Given the description of an element on the screen output the (x, y) to click on. 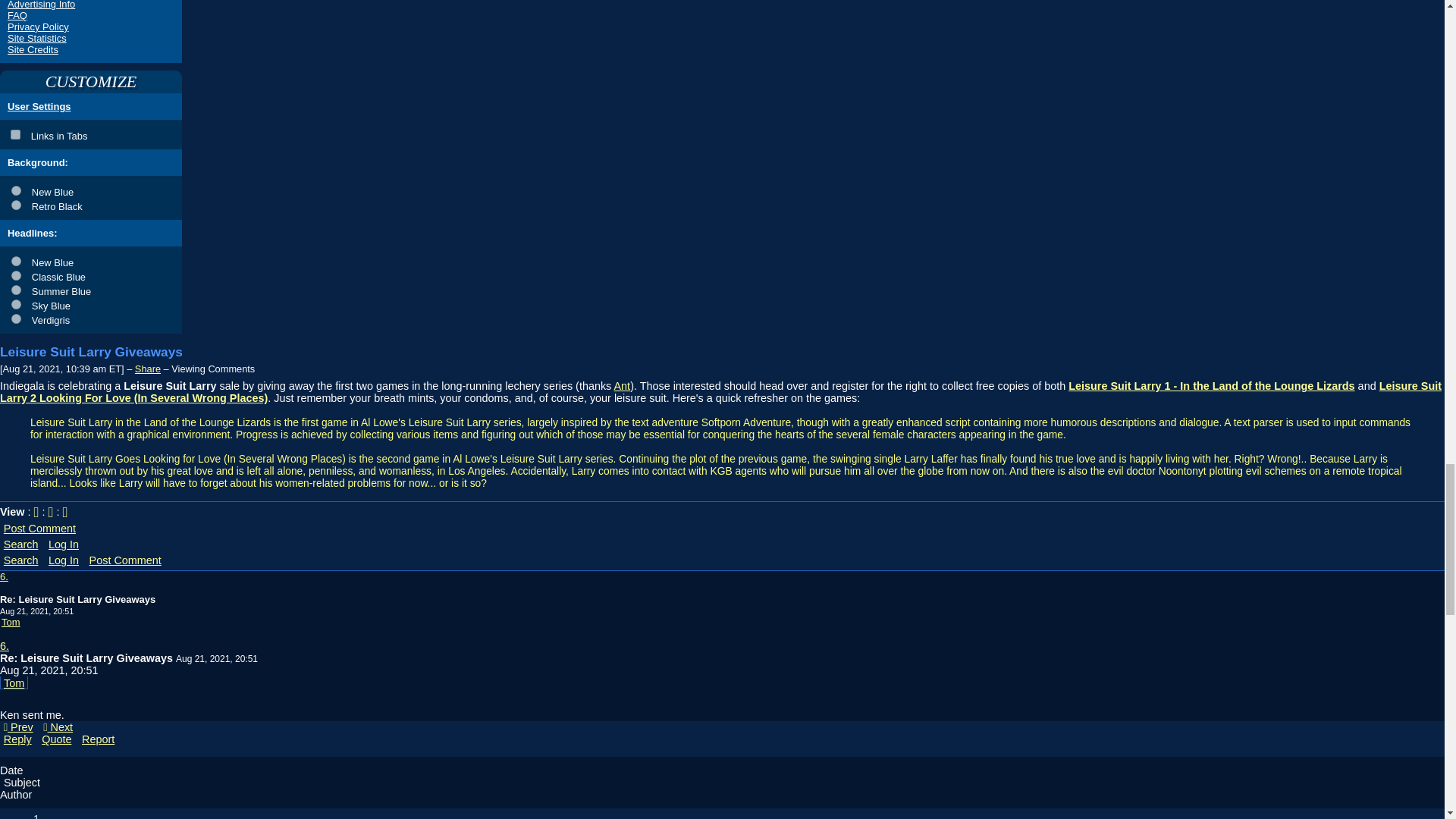
Search this Forum (21, 544)
Posts: 2034 ; Rank: Senior (14, 683)
Log In (63, 559)
Check this box to launch external links in new tabs (91, 134)
Log In (63, 544)
Post a new Comment (125, 559)
Post a new Comment (40, 527)
Search this Forum (21, 559)
Posts: 2034 ; Rank: Senior (10, 622)
